Given the description of an element on the screen output the (x, y) to click on. 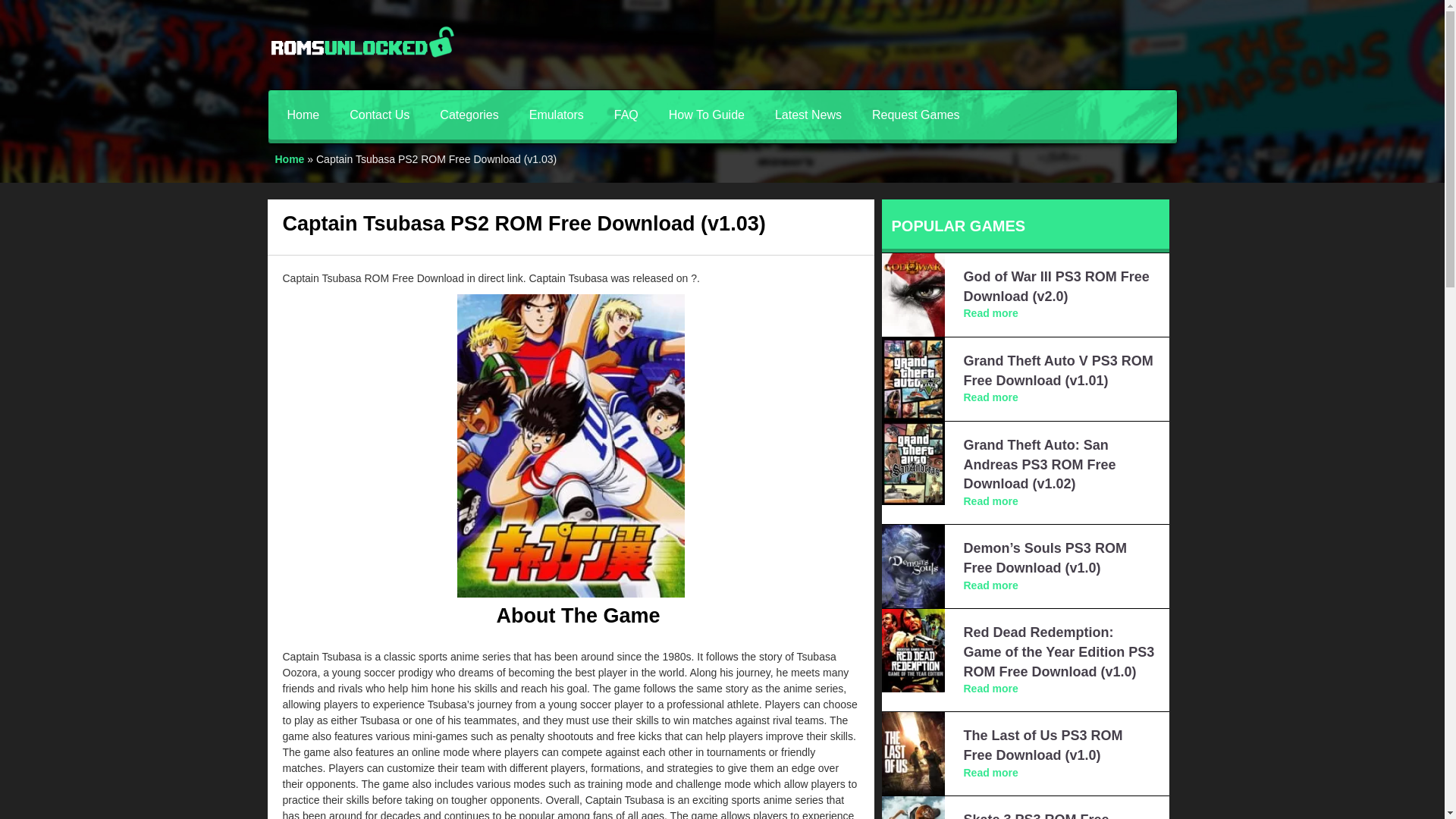
Read more (989, 772)
FAQ (625, 114)
Read more (989, 397)
Read more (989, 500)
Home (289, 159)
Home (302, 114)
How To Guide (706, 114)
Contact Us (379, 114)
Read more (989, 688)
Read more (989, 313)
Latest News (808, 114)
Request Games (916, 114)
Read more (989, 585)
Emulators (555, 114)
Categories (469, 114)
